Given the description of an element on the screen output the (x, y) to click on. 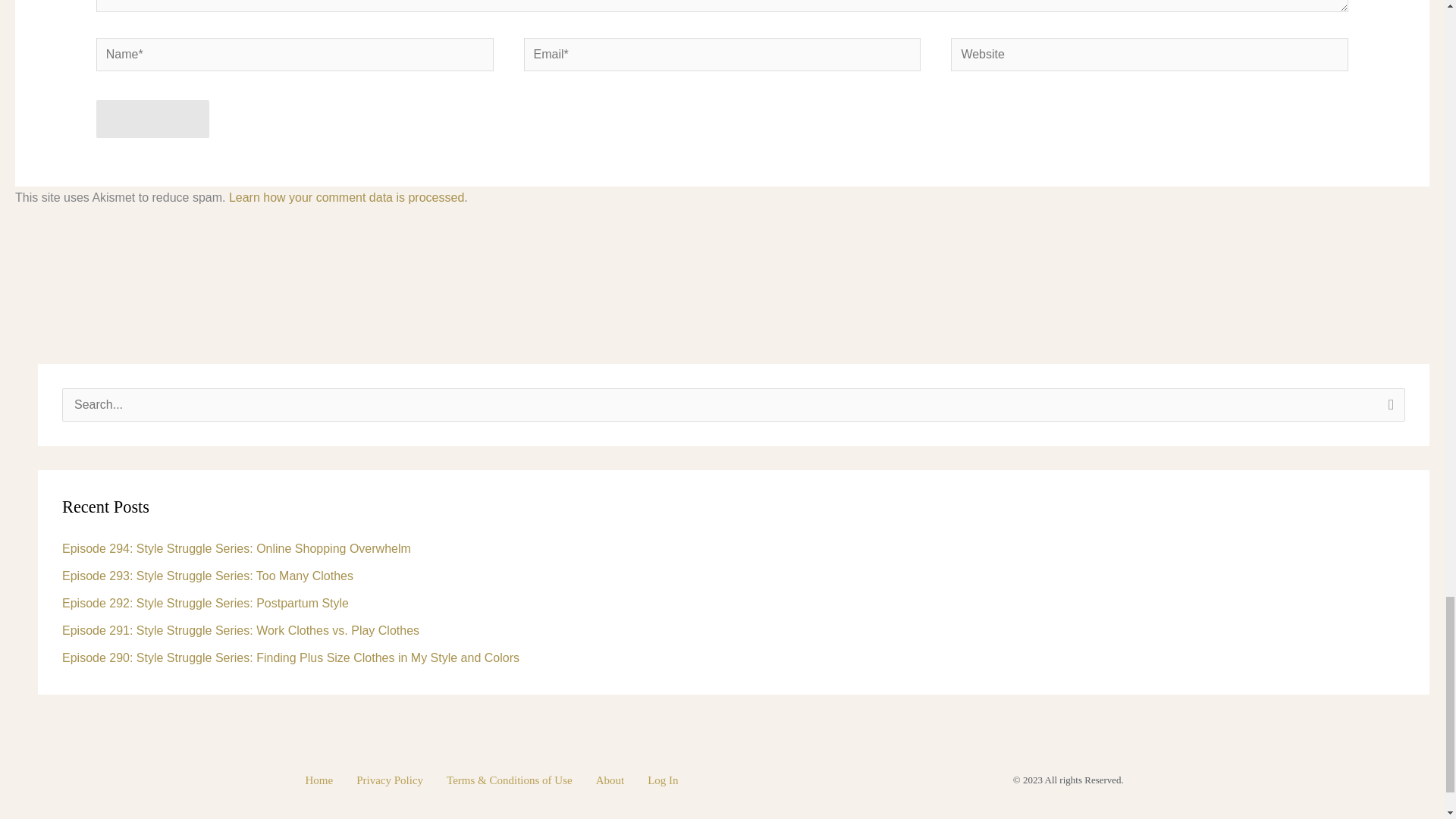
Learn how your comment data is processed (346, 196)
Episode 292: Style Struggle Series: Postpartum Style (205, 603)
Privacy Policy (389, 779)
Episode 293: Style Struggle Series: Too Many Clothes (207, 575)
